Given the description of an element on the screen output the (x, y) to click on. 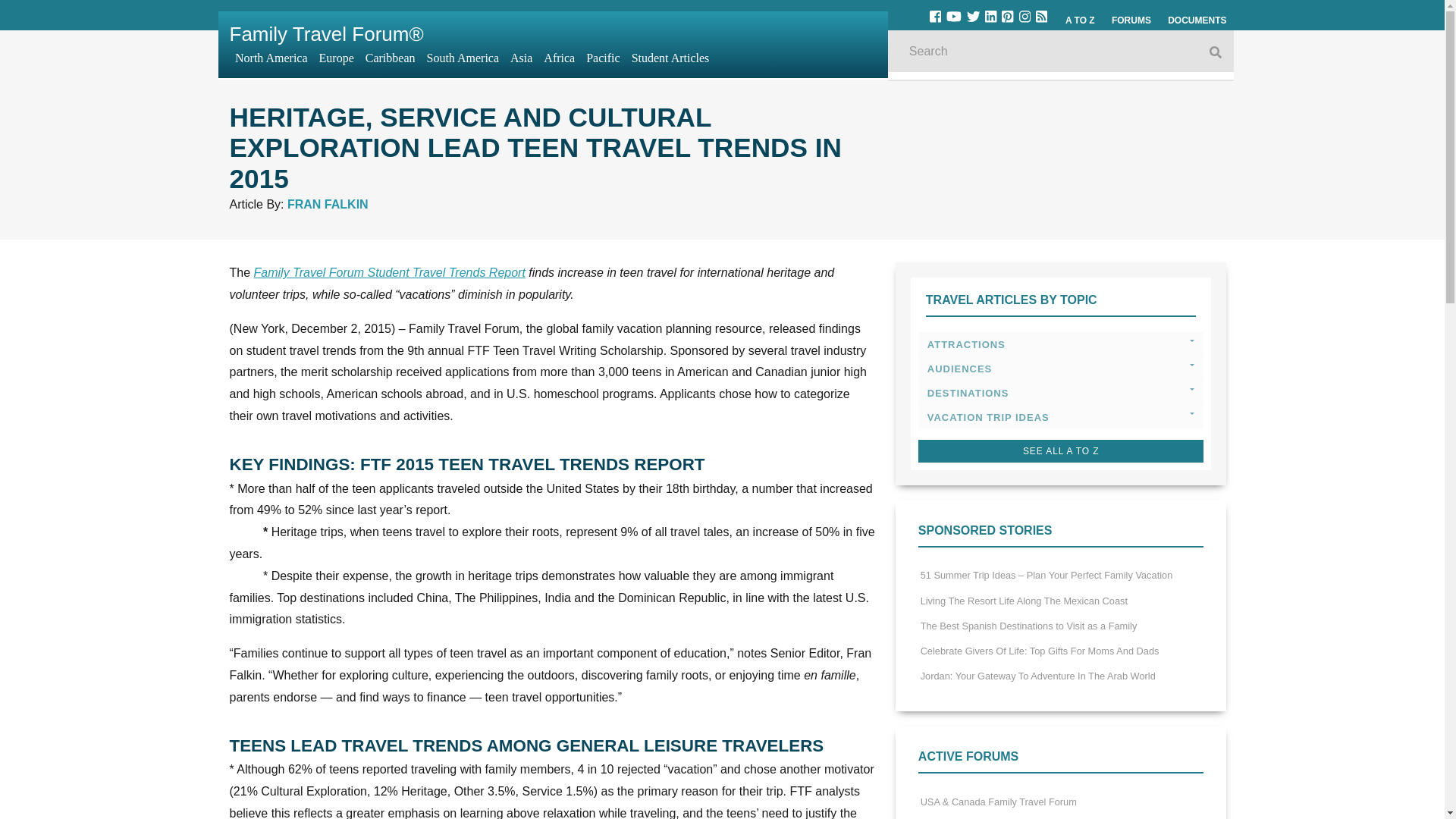
Travel Documents (1196, 20)
ATTRACTIONS (1061, 344)
Family Travel Forum Student Travel Trends Report (389, 272)
DESTINATIONS (1061, 392)
AUDIENCES (1061, 368)
A to Z Links (1079, 20)
Family Travel Forum (325, 33)
Forums (1131, 20)
FRAN FALKIN (327, 204)
